Given the description of an element on the screen output the (x, y) to click on. 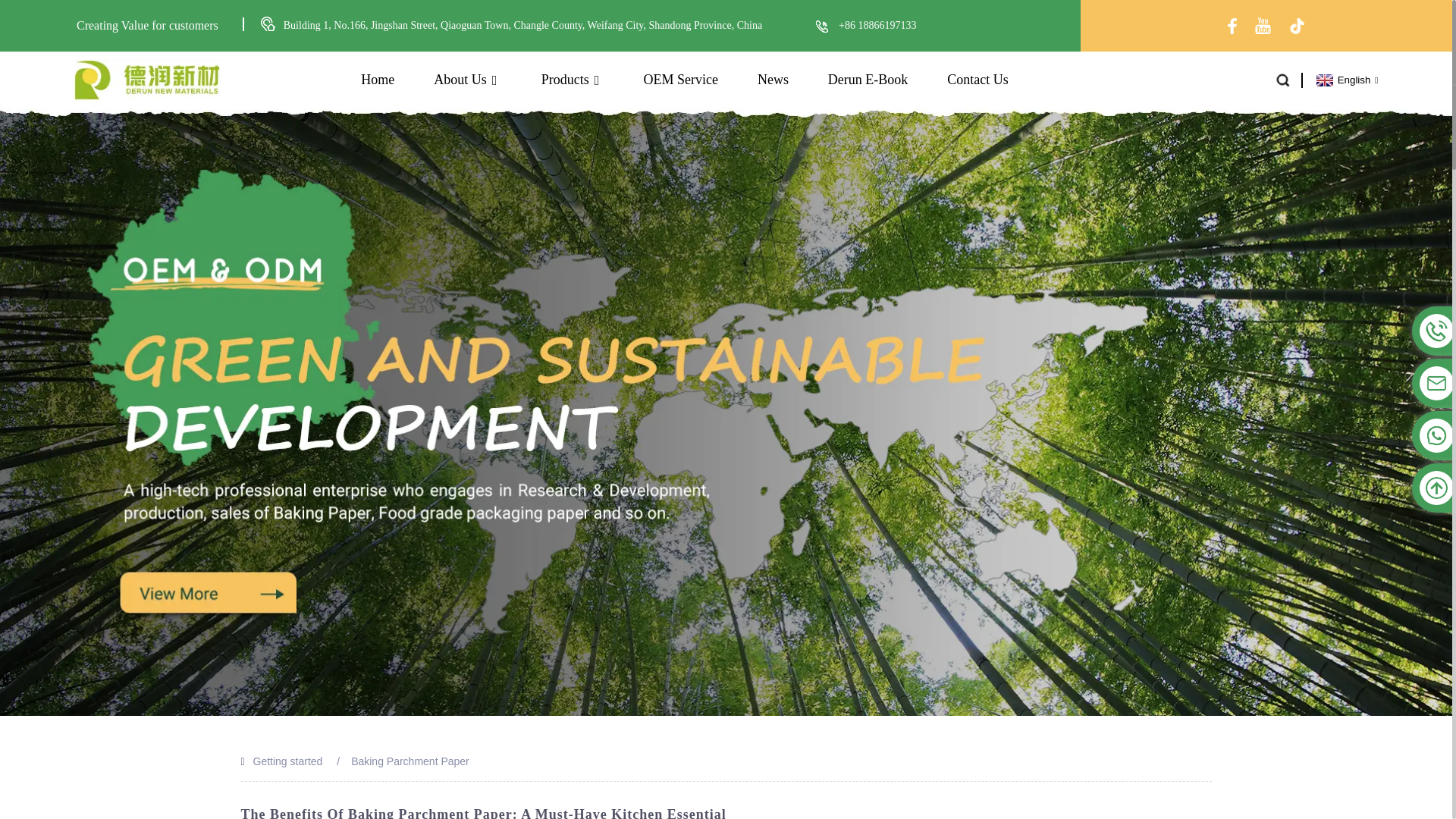
Home (377, 80)
About Us (467, 80)
Baking Parchment Paper (409, 761)
English (1345, 79)
Derun E-Book (867, 80)
News (773, 80)
OEM Service (680, 80)
Getting started (288, 761)
Products (572, 80)
Contact Us (978, 80)
